Given the description of an element on the screen output the (x, y) to click on. 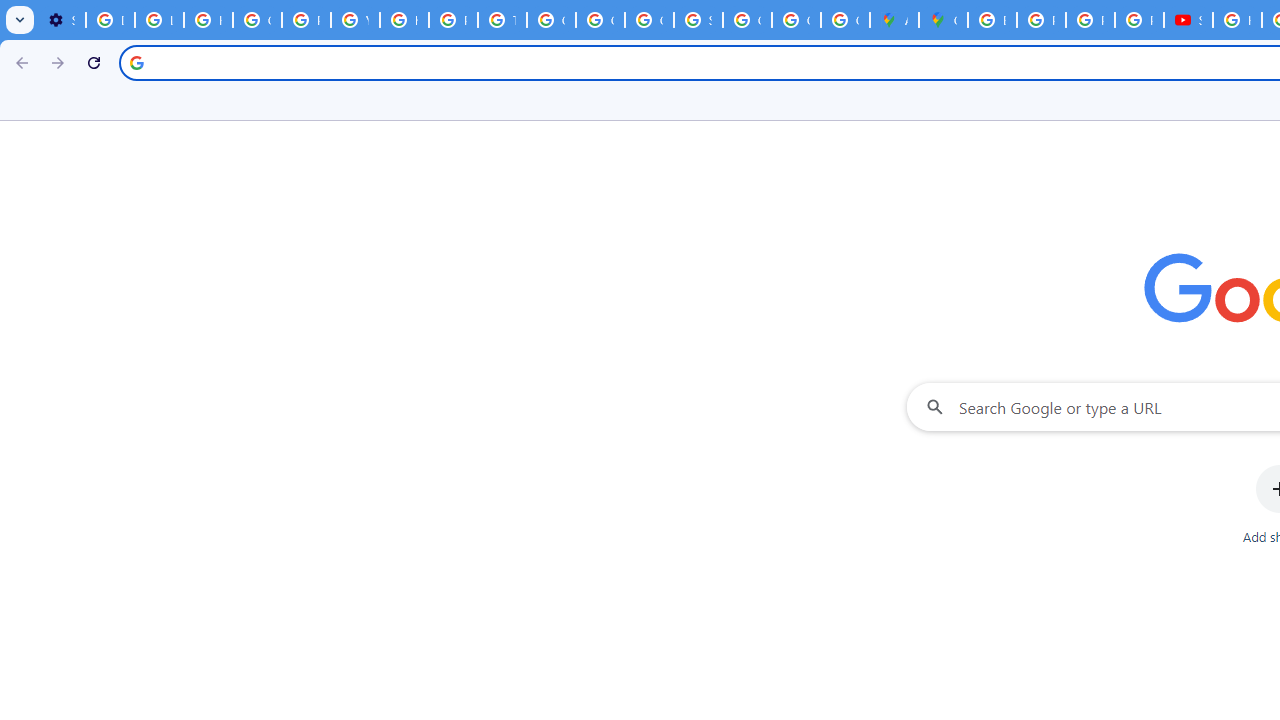
https://scholar.google.com/ (404, 20)
Blogger Policies and Guidelines - Transparency Center (992, 20)
Privacy Help Center - Policies Help (1041, 20)
Privacy Help Center - Policies Help (1090, 20)
Sign in - Google Accounts (698, 20)
Google Maps (943, 20)
Subscriptions - YouTube (1188, 20)
